Given the description of an element on the screen output the (x, y) to click on. 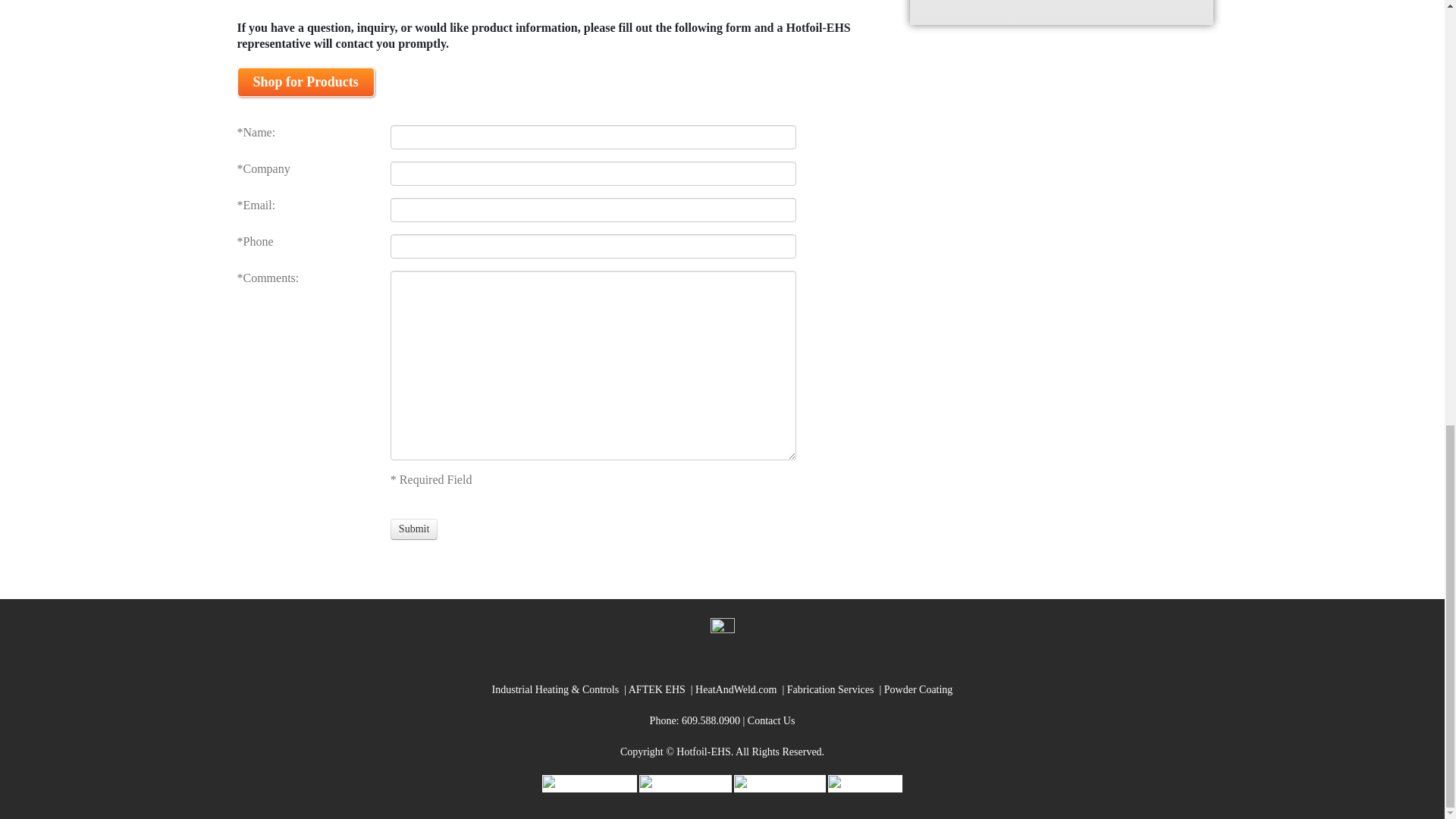
Shop for Products (304, 82)
Submit (414, 528)
Submit (414, 528)
